Given the description of an element on the screen output the (x, y) to click on. 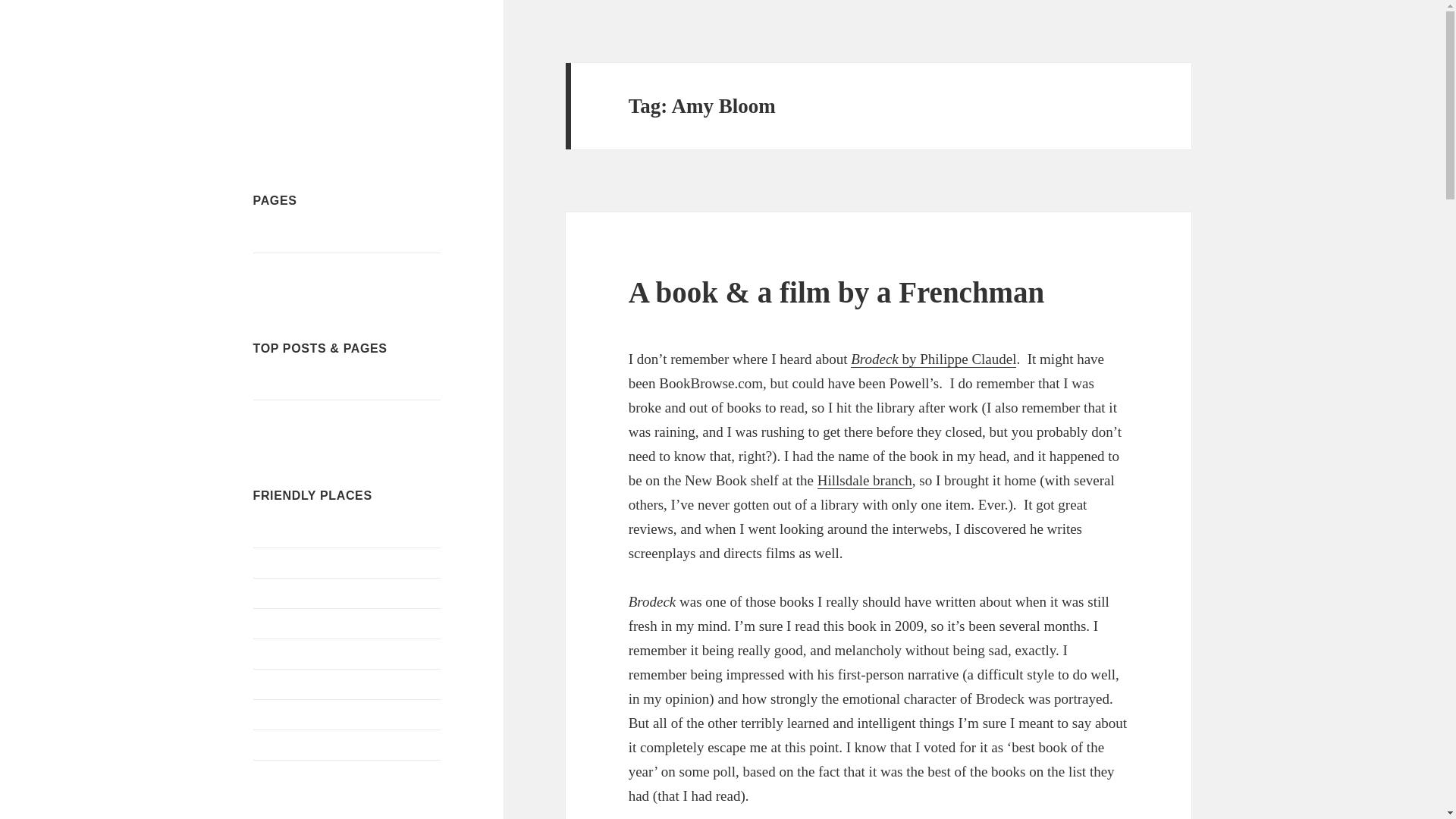
Anti-capitalist musings (309, 414)
The BEST web developer (285, 774)
Southfork Outfitters (301, 713)
About (268, 267)
Travel videos and other cool shit. (309, 562)
A Bevy of Books (333, 74)
Melven Bookkeeping (305, 236)
Title Wave Books (296, 744)
Captain Awkward (296, 653)
Book Browse (286, 592)
